Given the description of an element on the screen output the (x, y) to click on. 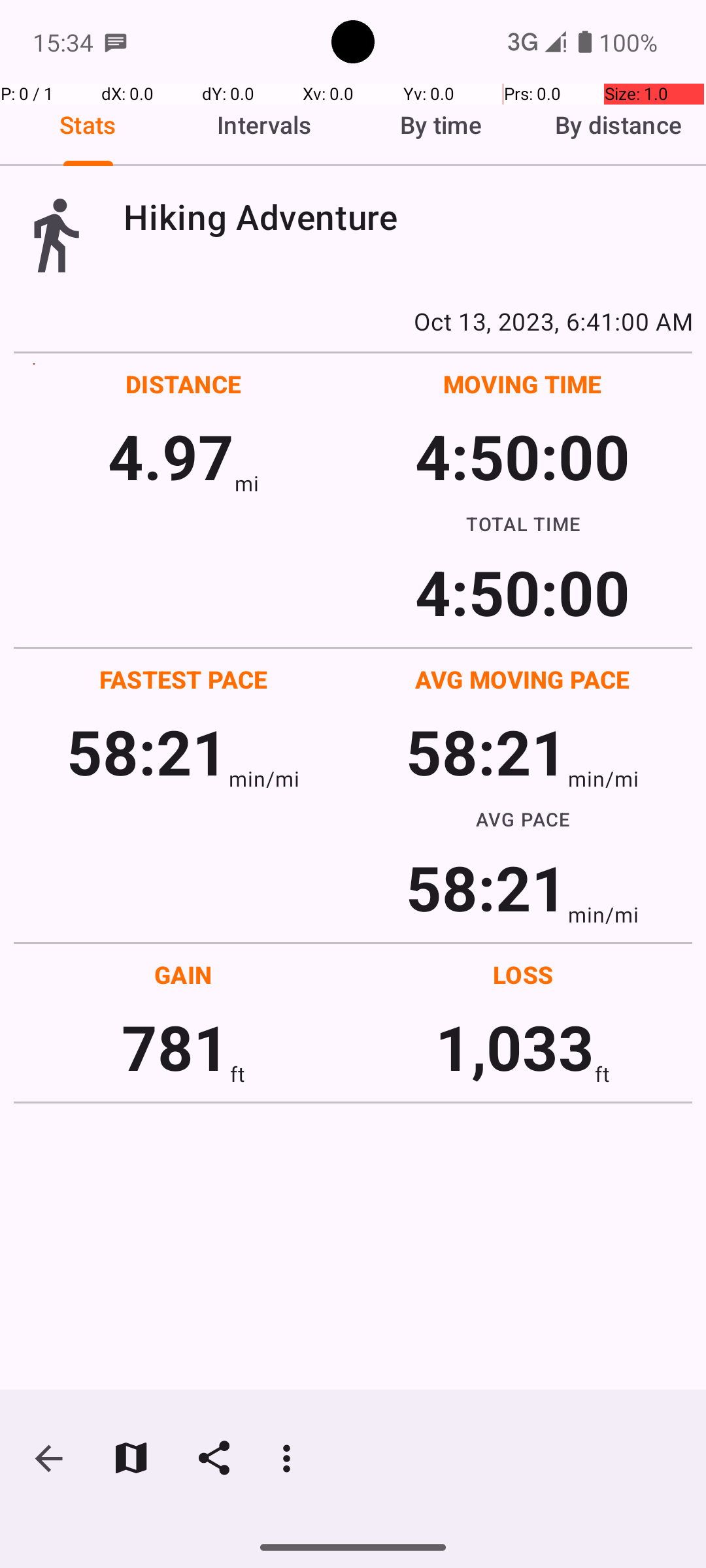
Hiking Adventure Element type: android.widget.TextView (407, 216)
Oct 13, 2023, 6:41:00 AM Element type: android.widget.TextView (352, 320)
4.97 Element type: android.widget.TextView (170, 455)
4:50:00 Element type: android.widget.TextView (522, 455)
FASTEST PACE Element type: android.widget.TextView (183, 678)
AVG MOVING PACE Element type: android.widget.TextView (522, 678)
58:21 Element type: android.widget.TextView (147, 750)
min/mi Element type: android.widget.TextView (264, 778)
AVG PACE Element type: android.widget.TextView (522, 818)
781 Element type: android.widget.TextView (175, 1045)
1,033 Element type: android.widget.TextView (514, 1045)
